Given the description of an element on the screen output the (x, y) to click on. 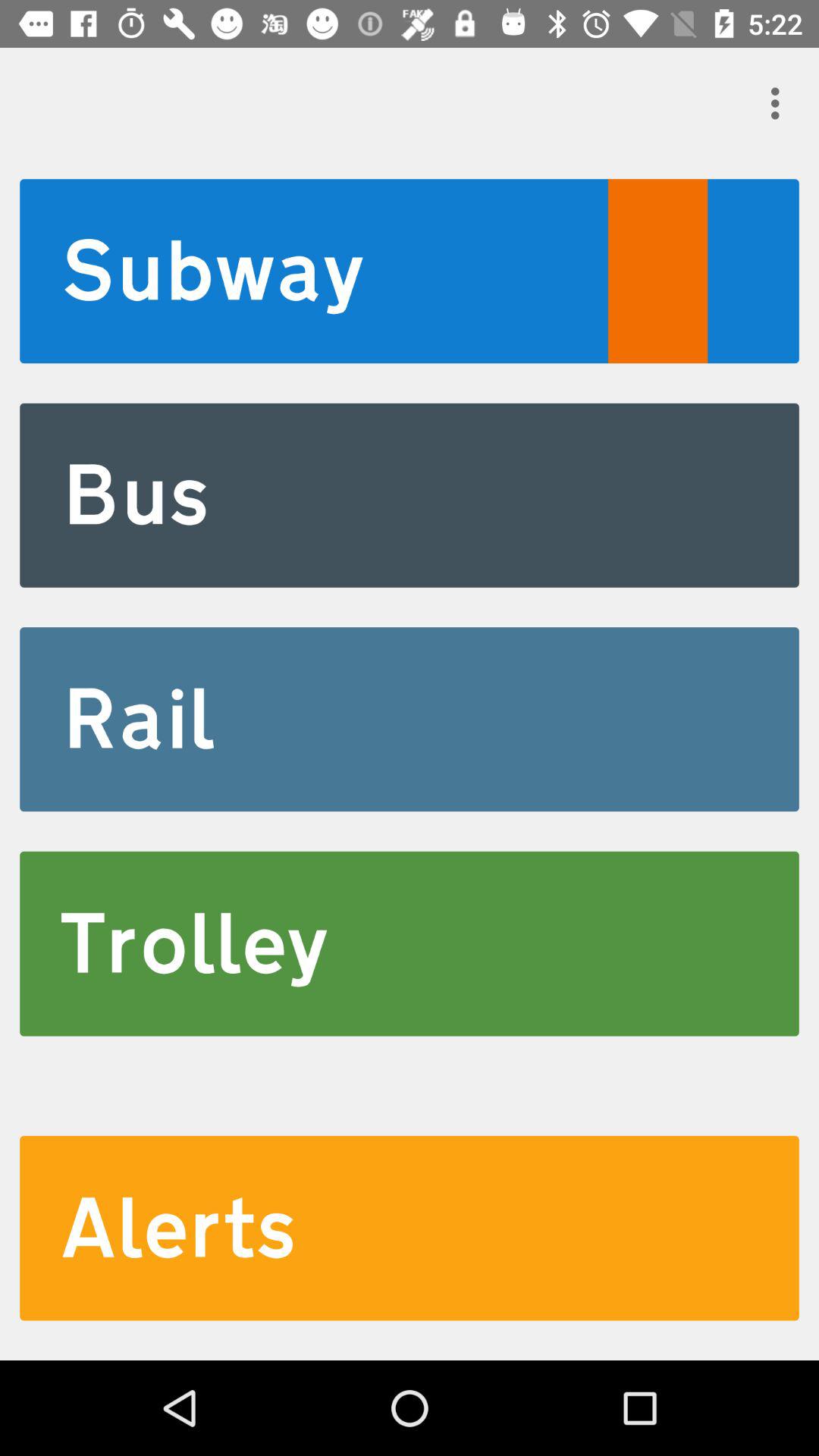
launch the icon below rail item (409, 943)
